Given the description of an element on the screen output the (x, y) to click on. 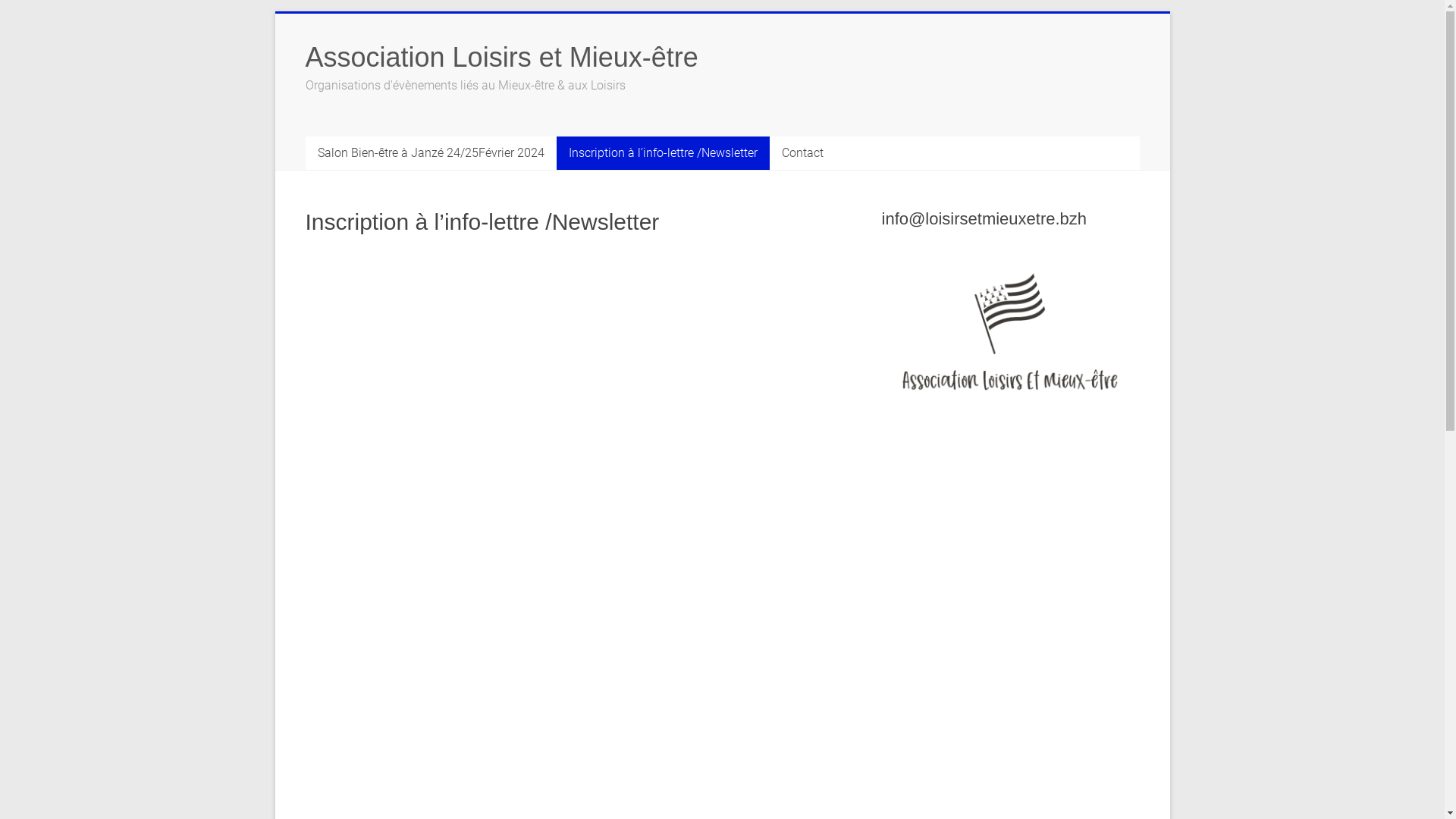
Contact Element type: text (801, 152)
